Given the description of an element on the screen output the (x, y) to click on. 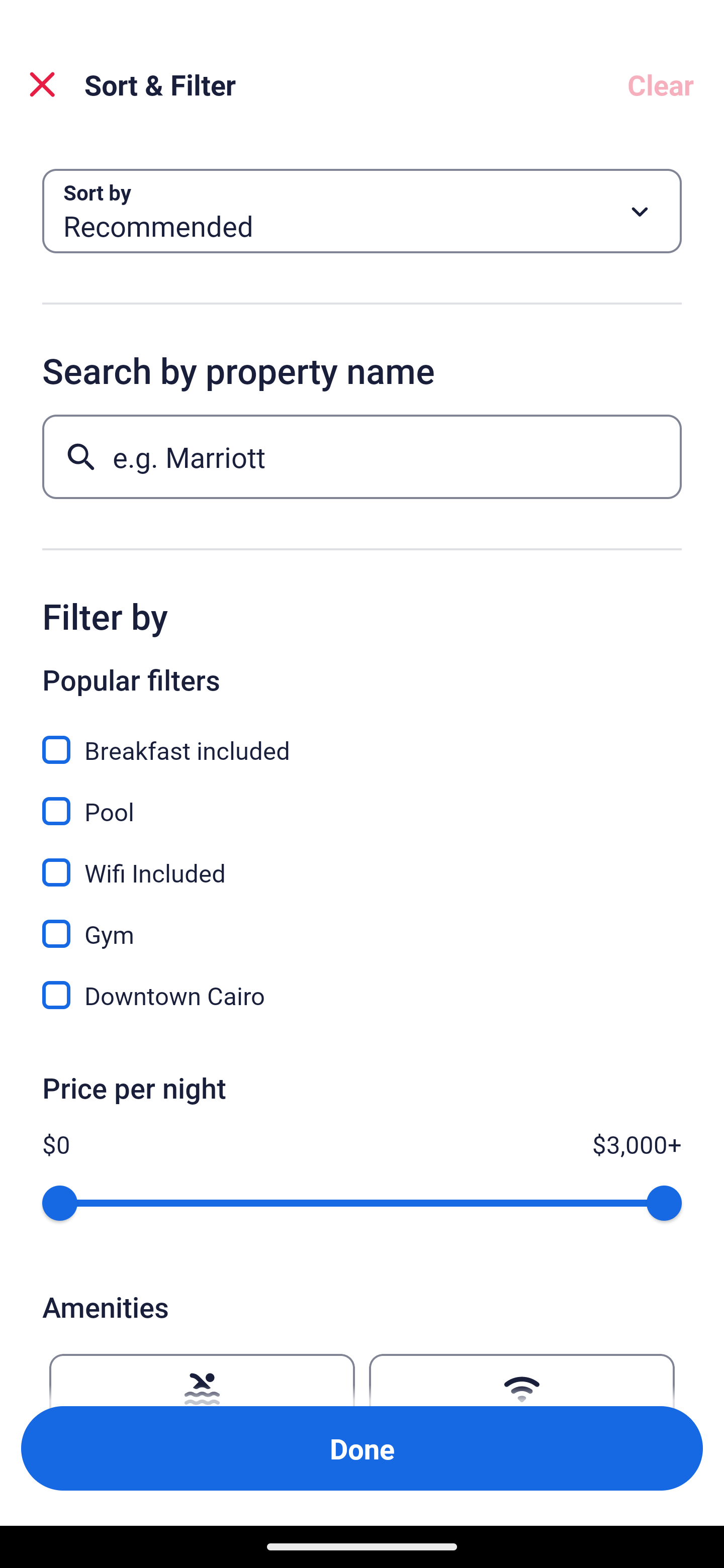
Close Sort and Filter (42, 84)
Clear (660, 84)
Sort by Button Recommended (361, 211)
e.g. Marriott Button (361, 455)
Breakfast included, Breakfast included (361, 738)
Pool, Pool (361, 800)
Wifi Included, Wifi Included (361, 861)
Gym, Gym (361, 922)
Downtown Cairo, Downtown Cairo (361, 995)
Apply and close Sort and Filter Done (361, 1448)
